Given the description of an element on the screen output the (x, y) to click on. 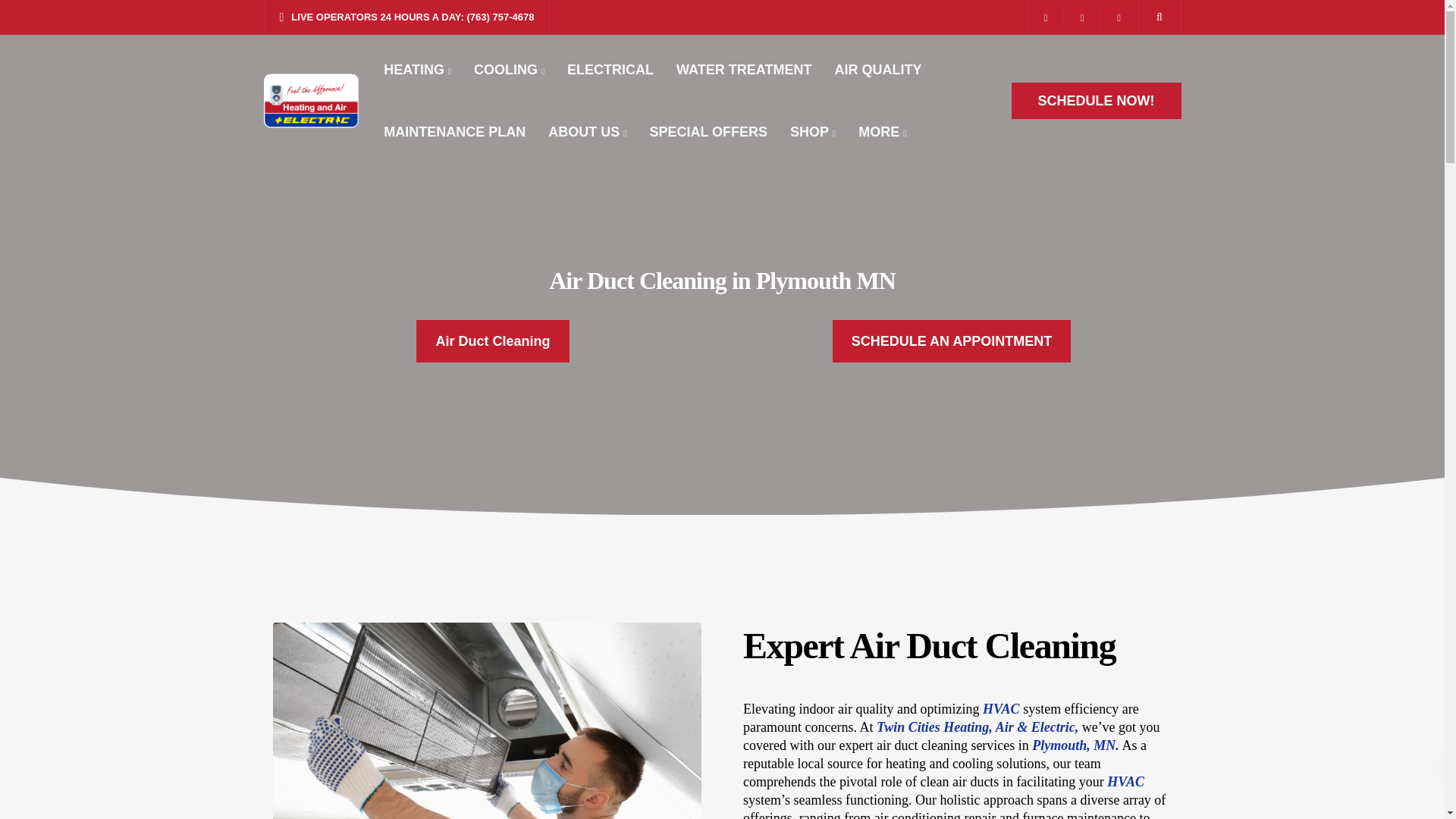
COOLING (509, 69)
AIR QUALITY (877, 69)
ELECTRICAL (610, 69)
SPECIAL OFFERS (707, 131)
WATER TREATMENT (743, 69)
ABOUT US (587, 131)
MAINTENANCE PLAN (454, 131)
SCHEDULE AN APPOINTMENT (951, 341)
Air Duct Cleaning (492, 341)
Schedule An Appointment (951, 341)
MORE (882, 131)
SHOP (812, 131)
SCHEDULE NOW! (1095, 100)
HEATING (417, 69)
Subscribe (818, 637)
